Given the description of an element on the screen output the (x, y) to click on. 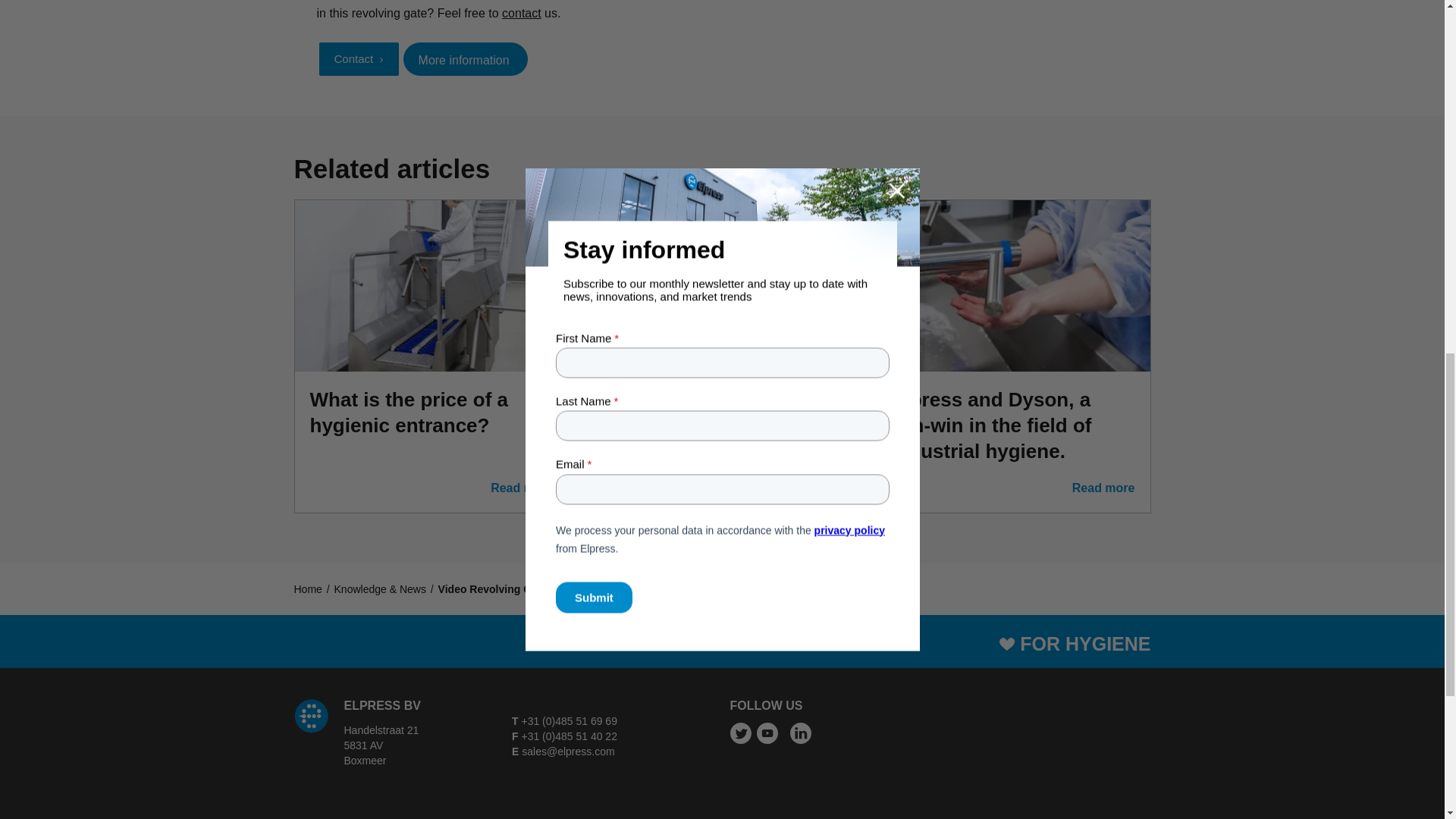
Contact (357, 59)
